Given the description of an element on the screen output the (x, y) to click on. 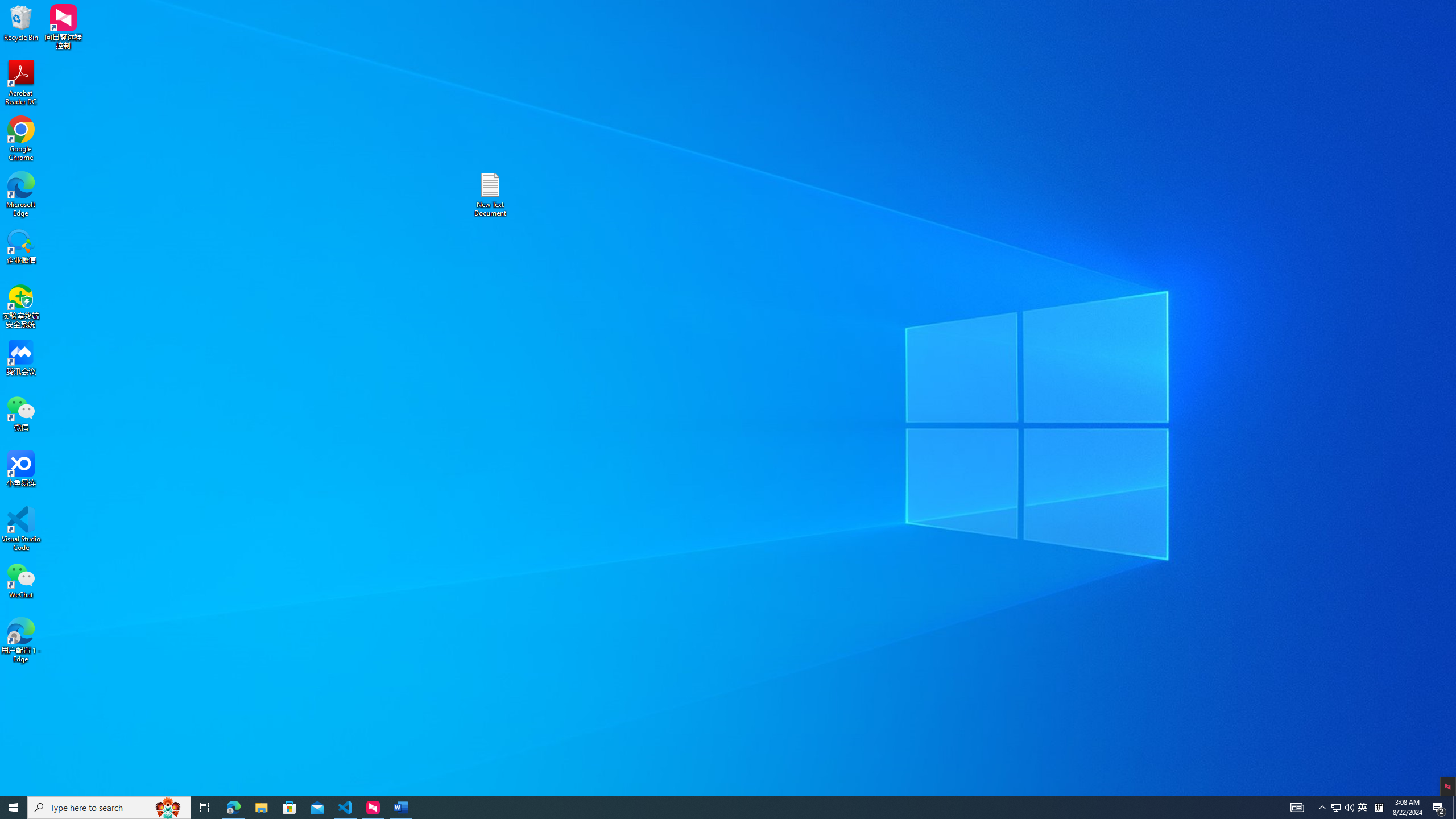
File Explorer (261, 807)
Subtle Emphasis (727, 56)
Emphasis (1335, 807)
